Given the description of an element on the screen output the (x, y) to click on. 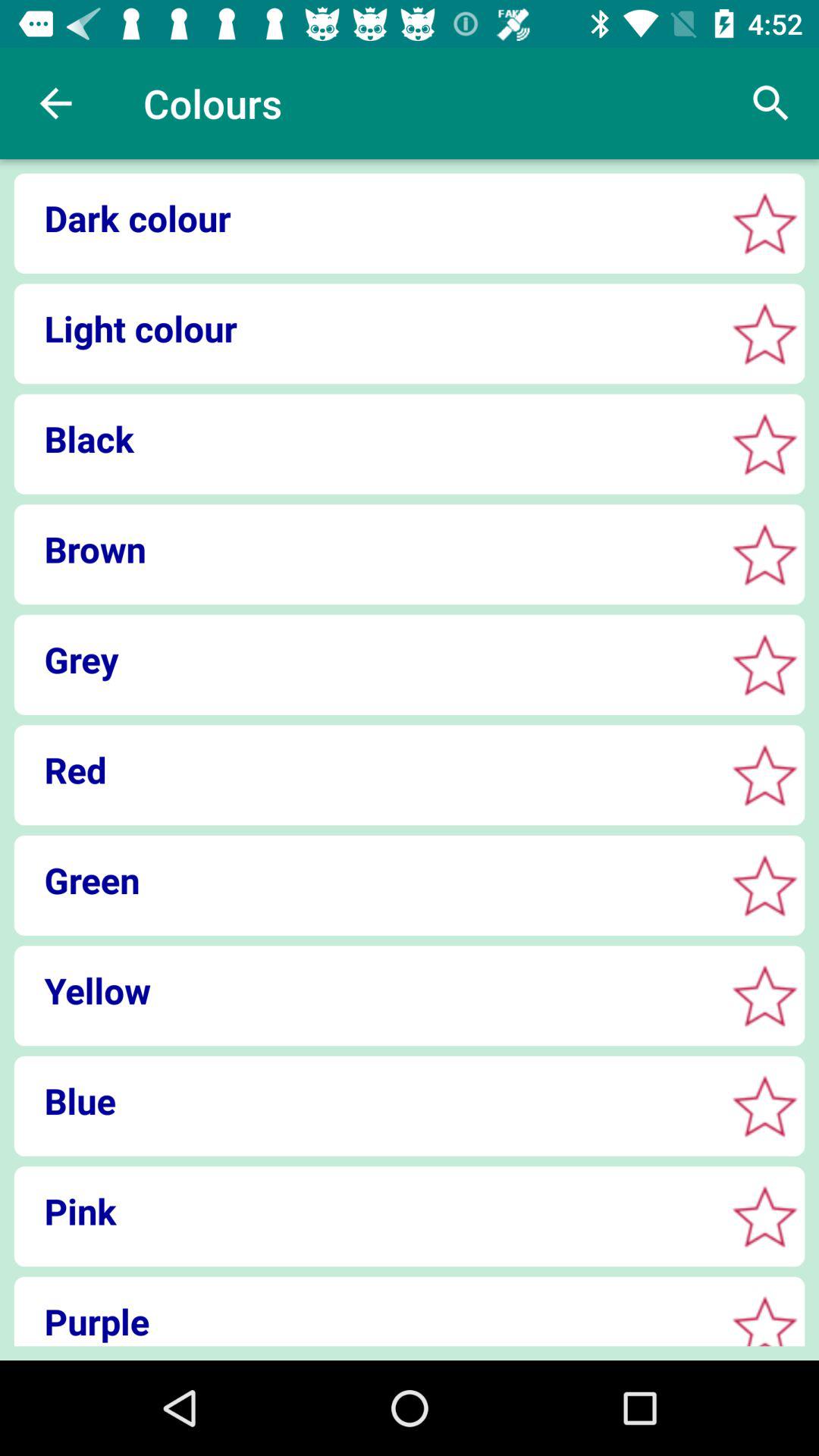
scroll to yellow item (364, 990)
